Given the description of an element on the screen output the (x, y) to click on. 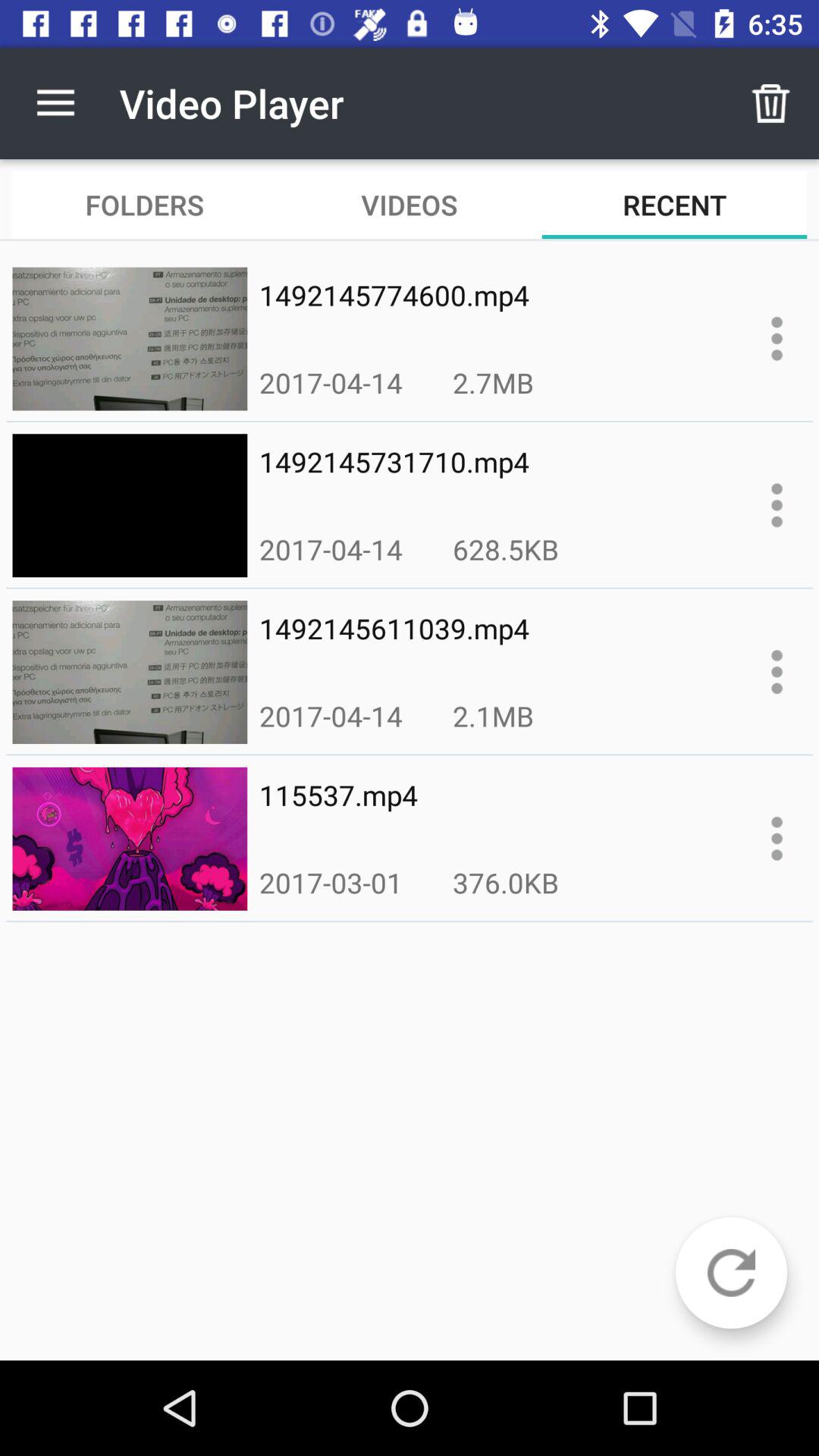
item options (776, 338)
